Given the description of an element on the screen output the (x, y) to click on. 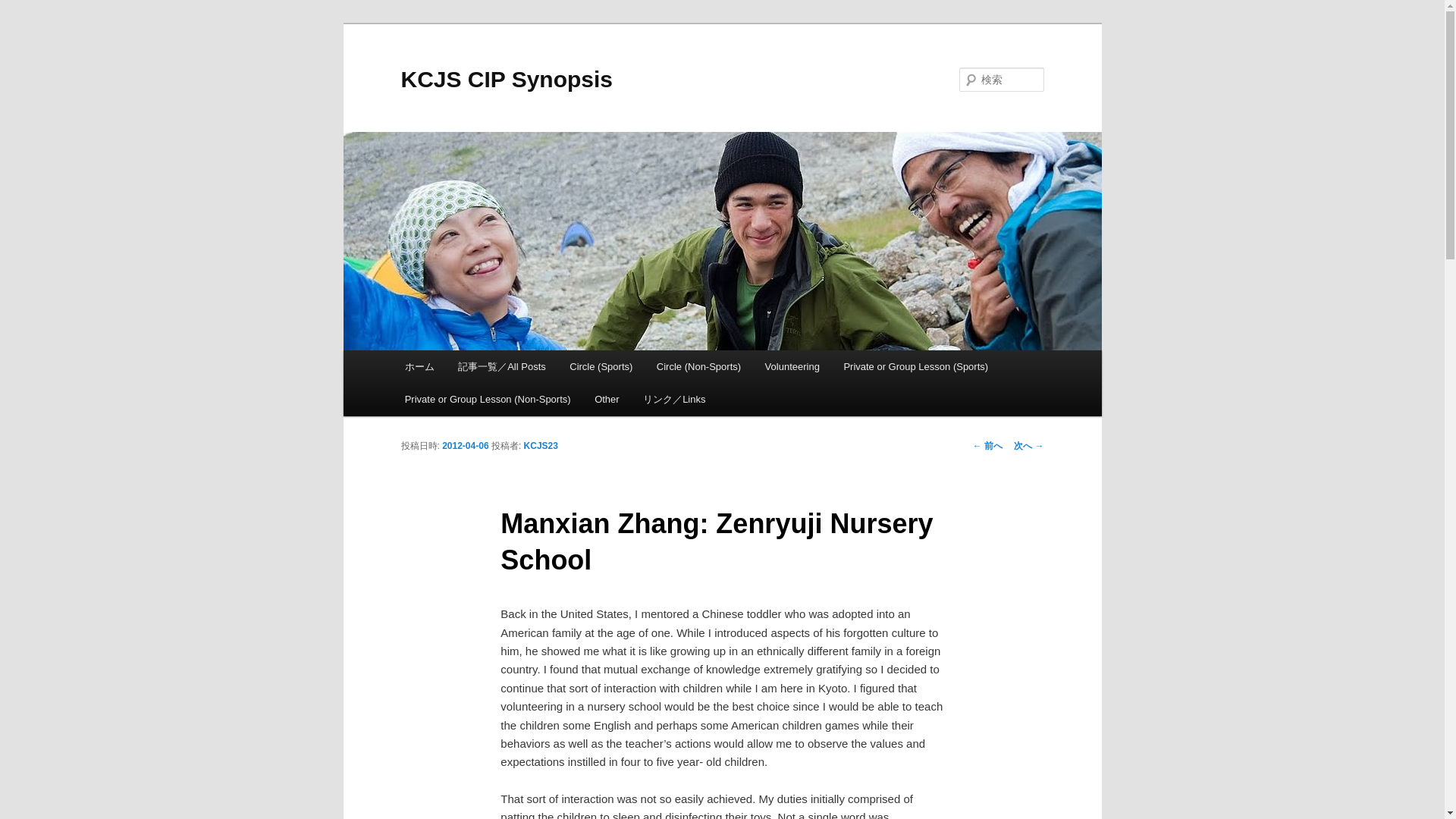
KCJS CIP Synopsis (506, 78)
2012-04-06 (464, 445)
8:31 AM (464, 445)
Other (606, 399)
Volunteering (791, 366)
KCJS CIP Synopsis (506, 78)
KCJS23 (540, 445)
